Given the description of an element on the screen output the (x, y) to click on. 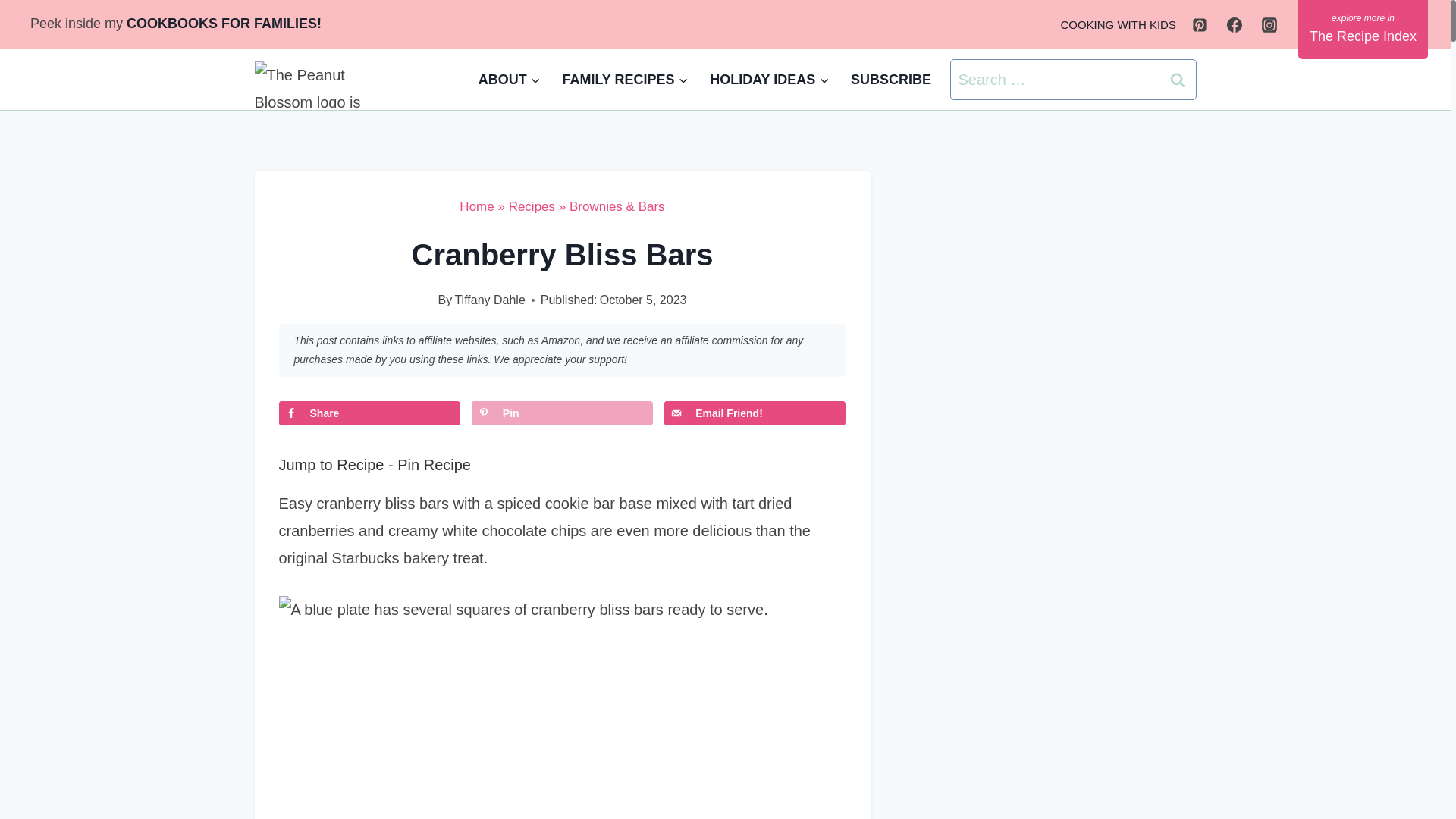
Send over email (754, 413)
HOLIDAY IDEAS (769, 78)
Share on Facebook (369, 413)
Search (1177, 78)
Save to Pinterest (561, 413)
FAMILY RECIPES (624, 78)
The Recipe Index (1363, 29)
Share (369, 413)
ABOUT (509, 78)
COOKBOOKS FOR FAMILIES! (223, 23)
SUBSCRIBE (891, 78)
Tiffany Dahle (489, 299)
Search (1177, 78)
COOKING WITH KIDS (1117, 24)
Home (476, 206)
